Given the description of an element on the screen output the (x, y) to click on. 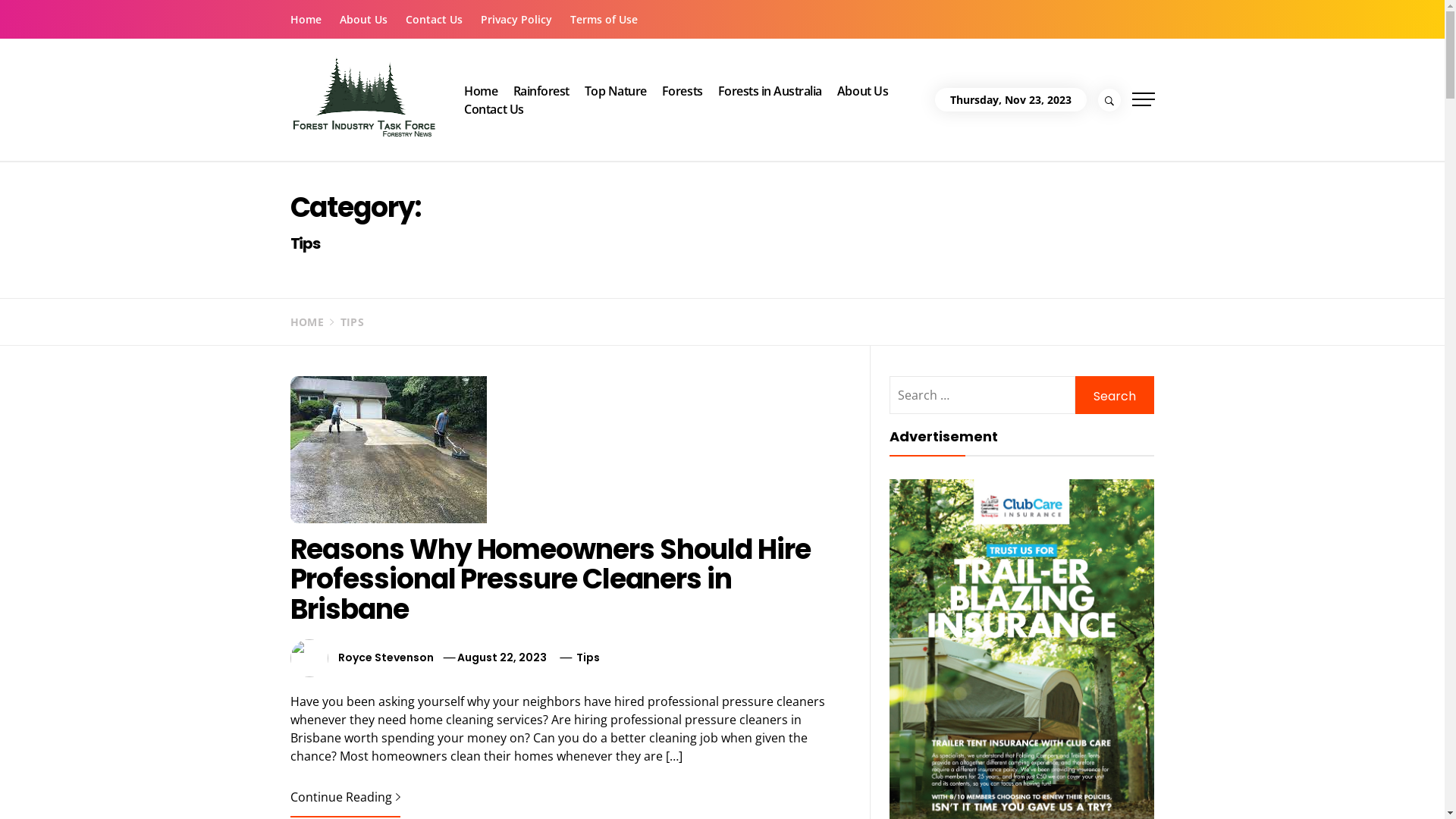
Search Element type: text (1114, 395)
Contact Us Element type: text (493, 109)
August 22, 2023 Element type: text (501, 657)
About Us Element type: text (862, 90)
Home Element type: text (308, 19)
Forests in Australia Element type: text (769, 90)
Forests Element type: text (682, 90)
Rainforest Element type: text (540, 90)
Privacy Policy Element type: text (516, 19)
HOME Element type: text (306, 321)
Forest Industry Task Force Element type: text (614, 68)
Top Nature Element type: text (615, 90)
Terms of Use Element type: text (603, 19)
Contact Us Element type: text (433, 19)
About Us Element type: text (363, 19)
Tips Element type: text (587, 657)
Royce Stevenson Element type: text (385, 657)
Search Element type: text (797, 41)
TIPS Element type: text (343, 321)
Continue Reading Element type: text (344, 796)
Home Element type: text (480, 90)
